Given the description of an element on the screen output the (x, y) to click on. 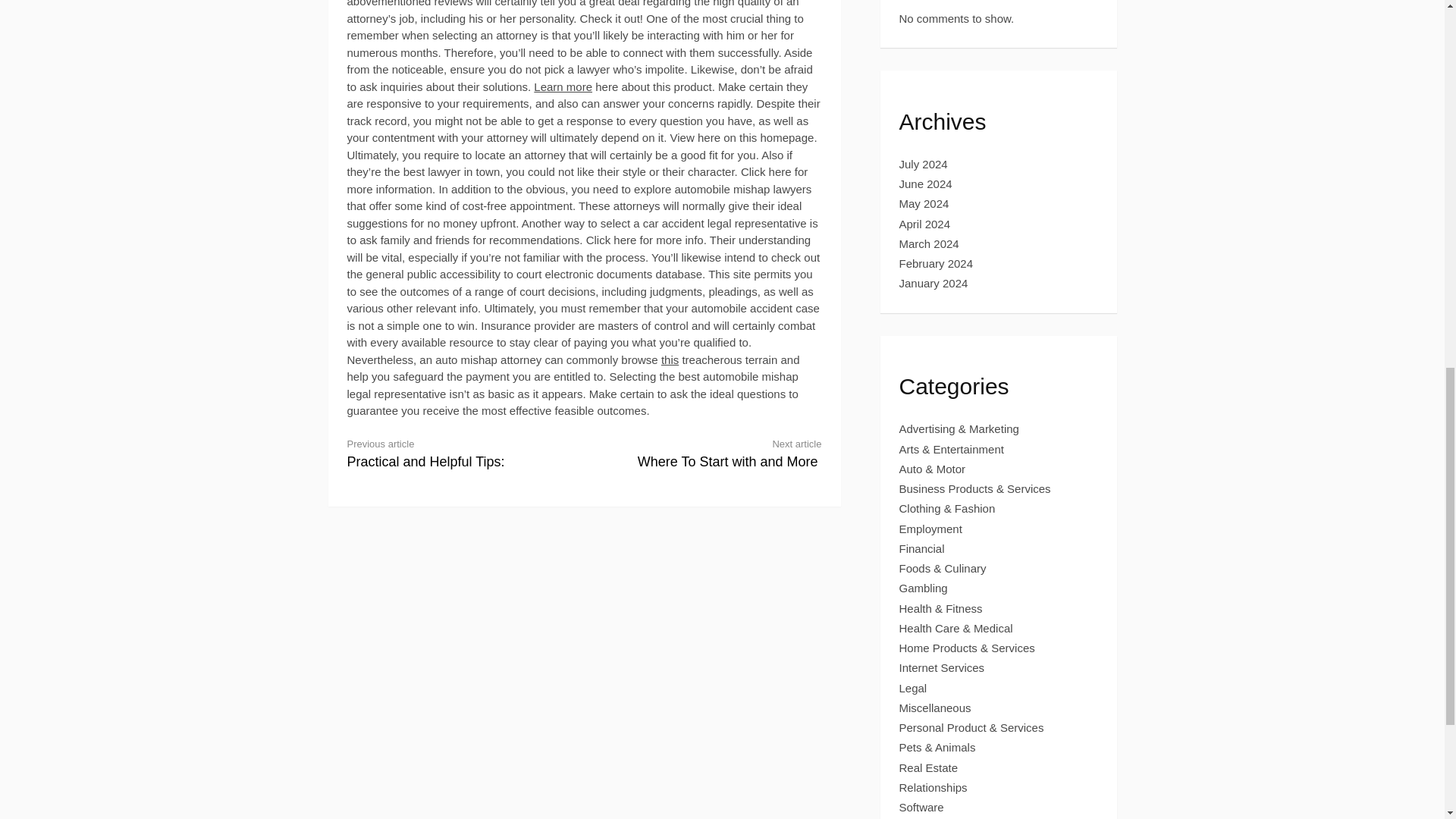
January 2024 (933, 282)
June 2024 (925, 183)
April 2024 (924, 223)
May 2024 (924, 203)
Learn more (453, 452)
Gambling (563, 86)
July 2024 (715, 452)
Financial (923, 587)
